Given the description of an element on the screen output the (x, y) to click on. 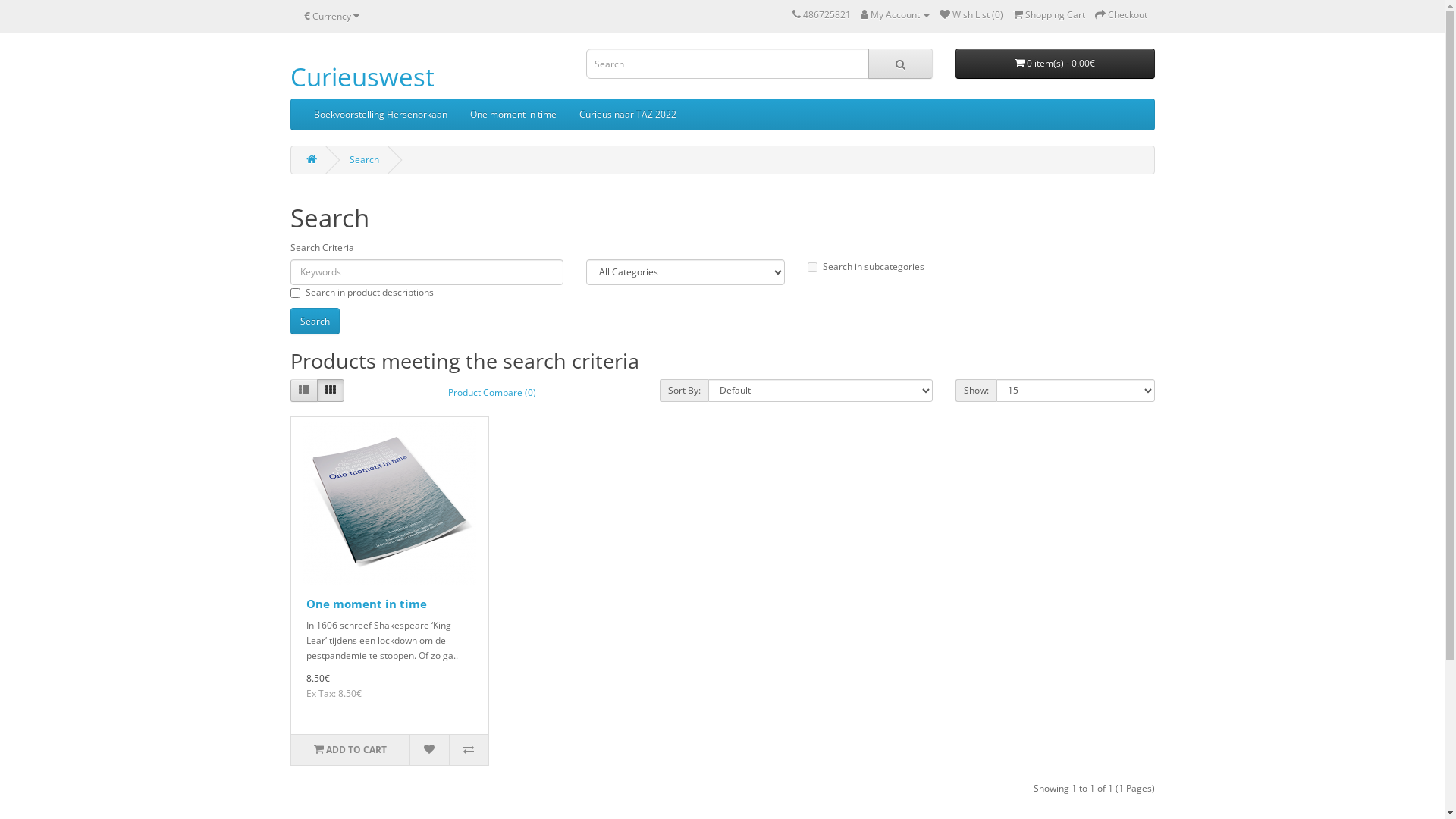
Curieuswest Element type: text (361, 76)
ADD TO CART Element type: text (350, 749)
Wish List (0) Element type: text (970, 14)
Product Compare (0) Element type: text (492, 391)
Search Element type: text (363, 159)
One moment in time Element type: text (512, 114)
One moment in time Element type: hover (389, 503)
Shopping Cart Element type: text (1049, 14)
Boekvoorstelling Hersenorkaan Element type: text (379, 114)
Checkout Element type: text (1121, 14)
My Account Element type: text (893, 14)
Curieus naar TAZ 2022 Element type: text (627, 114)
One moment in time Element type: text (366, 603)
